Given the description of an element on the screen output the (x, y) to click on. 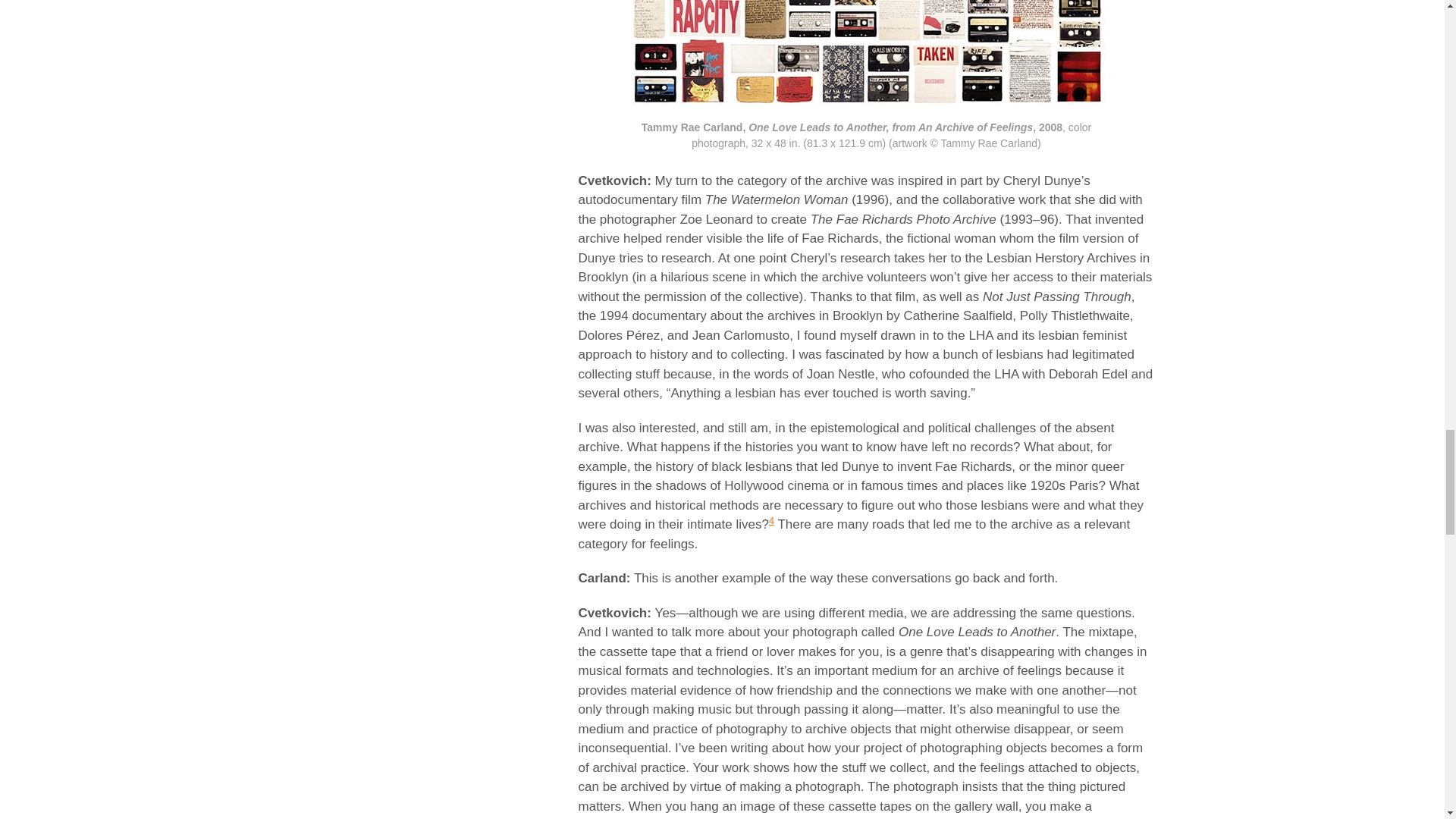
4 (771, 520)
